Given the description of an element on the screen output the (x, y) to click on. 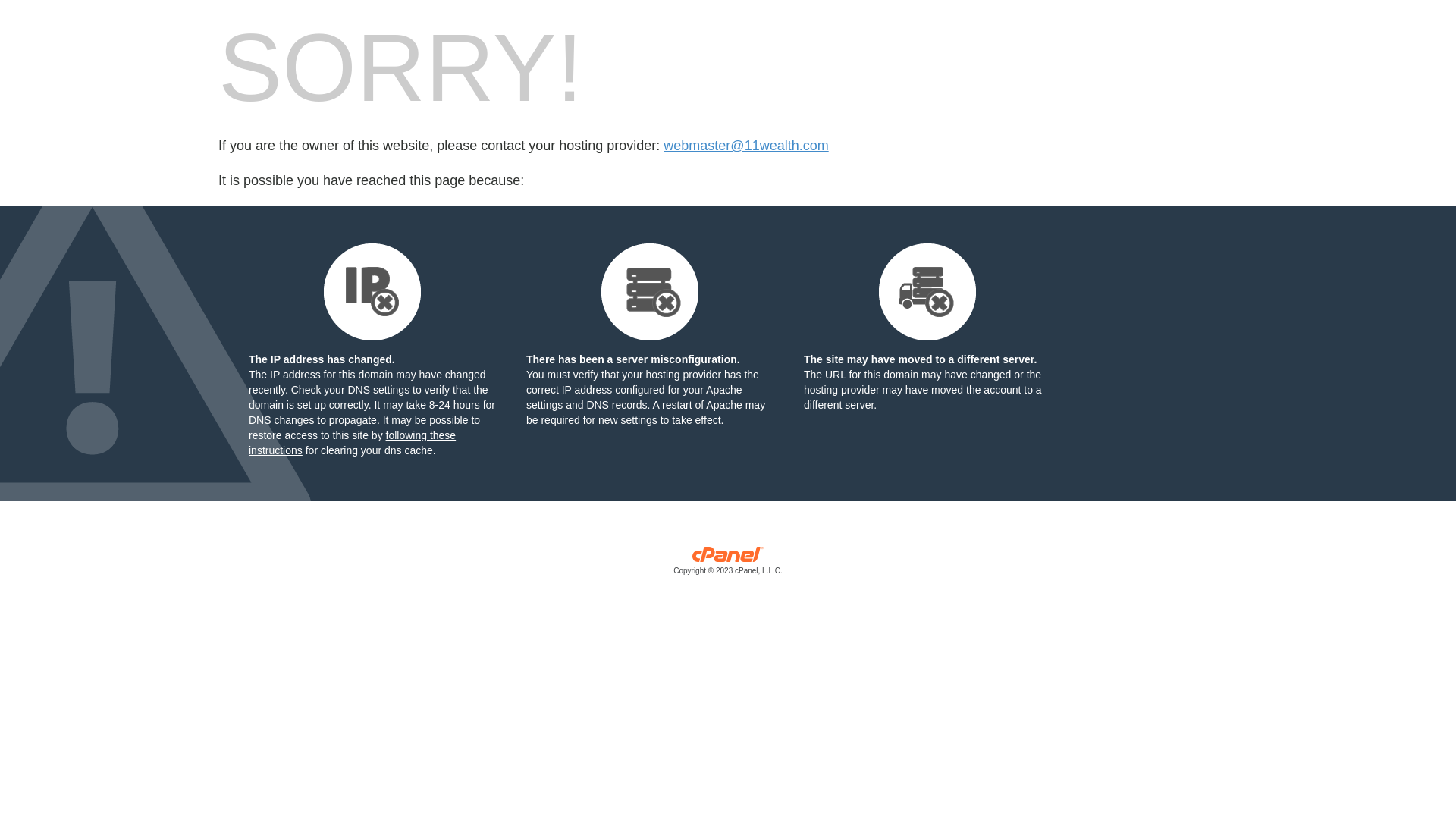
webmaster@11wealth.com Element type: text (745, 145)
following these instructions Element type: text (351, 442)
